Given the description of an element on the screen output the (x, y) to click on. 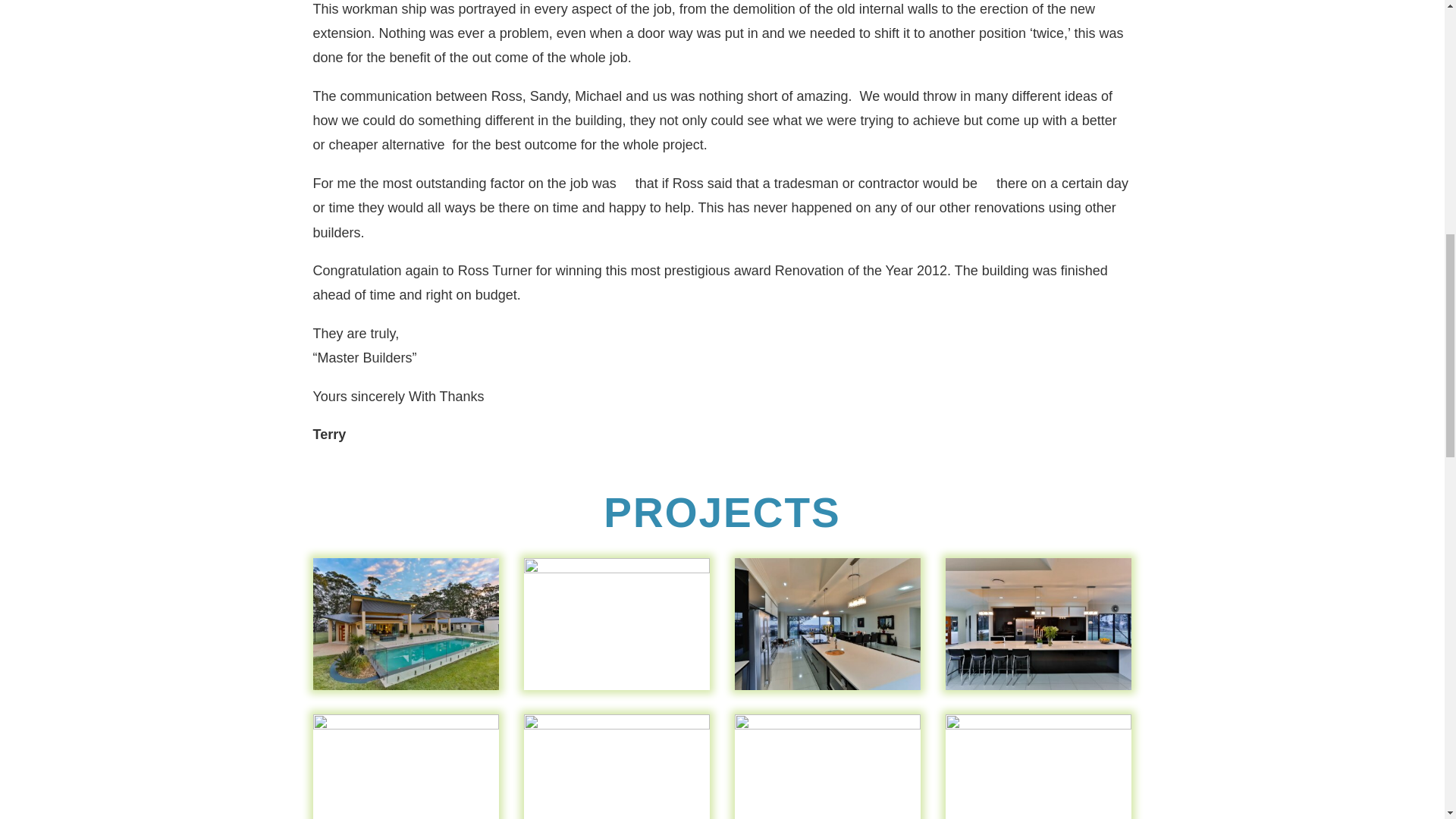
2 (617, 689)
3b (1038, 689)
3 (828, 689)
1 (406, 689)
